Given the description of an element on the screen output the (x, y) to click on. 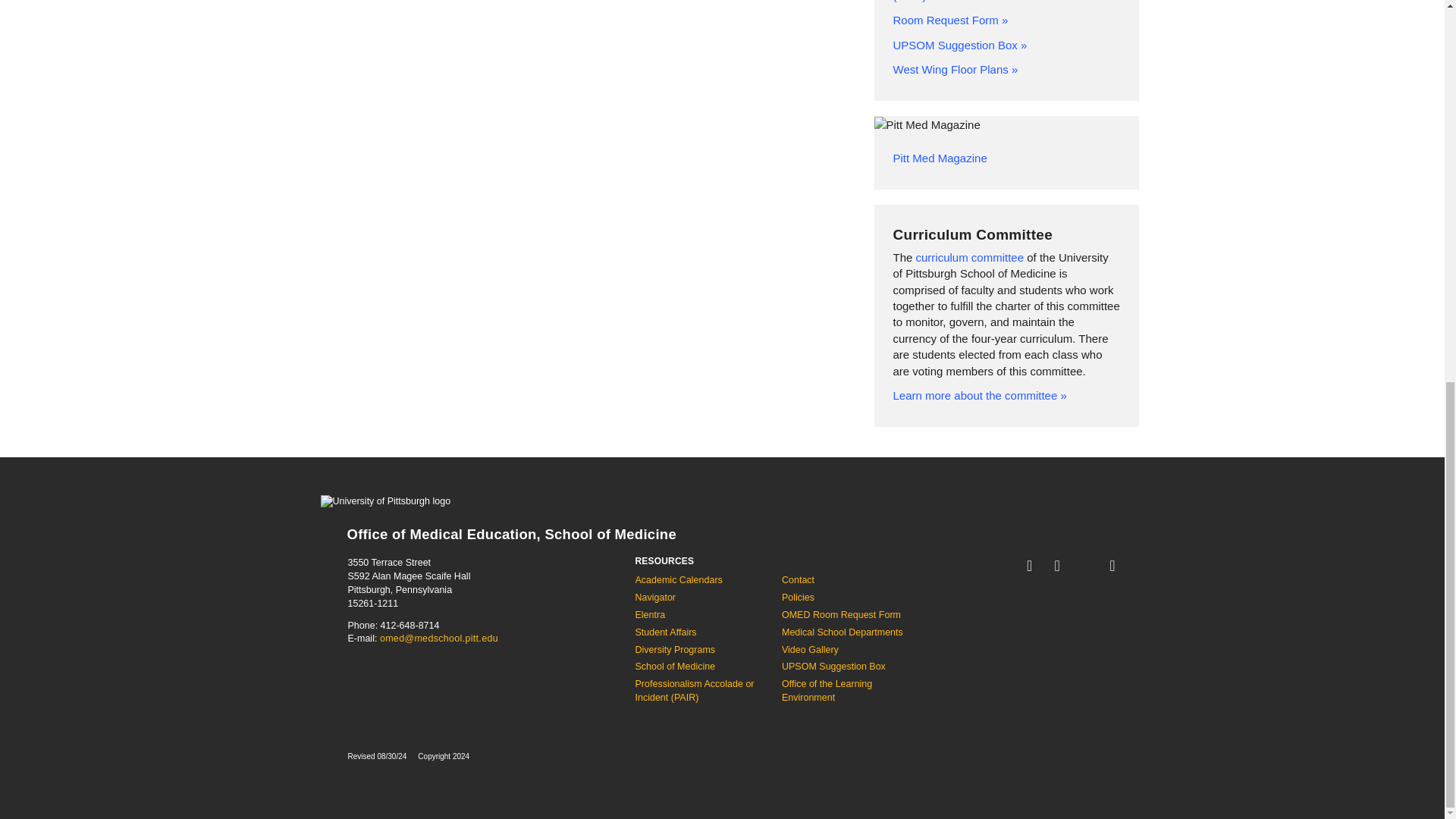
Follow Pitt School of Medicine on Instagram (1111, 565)
Email Us (1029, 565)
Find Pitt School of Medicine on Facebook (1057, 565)
Follow Pitt Health Sciences on Twitter (1084, 565)
